Given the description of an element on the screen output the (x, y) to click on. 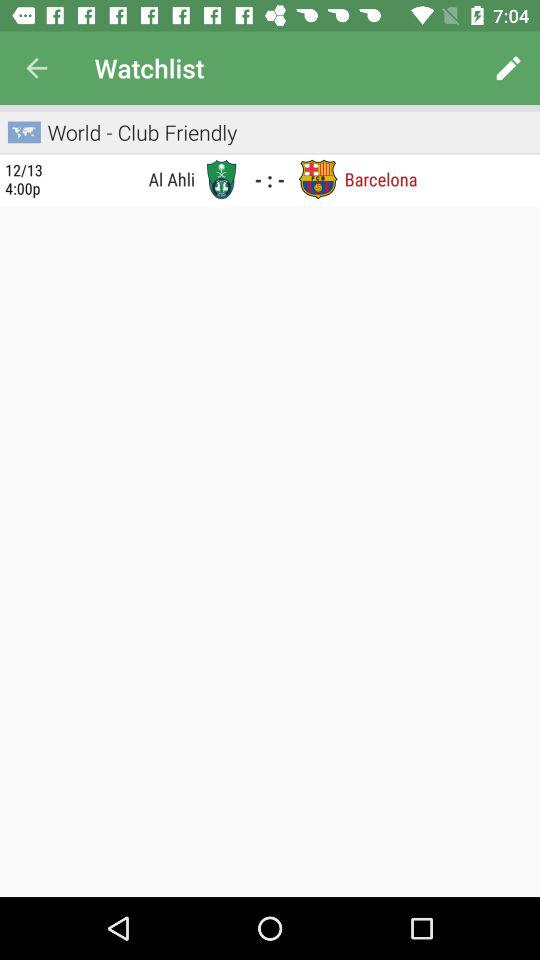
open the item to the left of the - : - (221, 179)
